Given the description of an element on the screen output the (x, y) to click on. 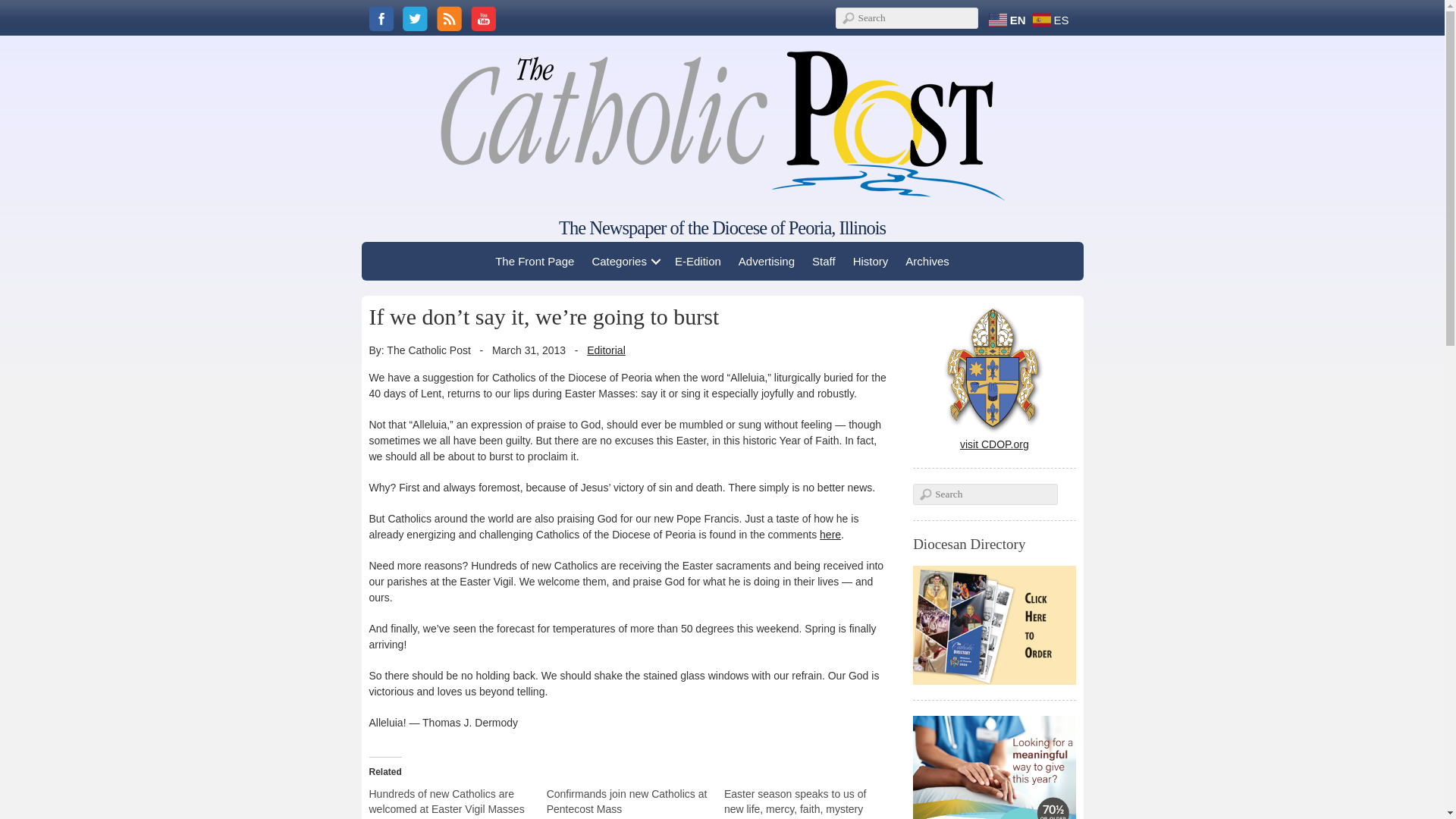
History (870, 261)
E-Edition (697, 261)
here (830, 534)
Advertising (766, 261)
Confirmands join new Catholics at Pentecost Mass (627, 800)
The Newspaper of the Diocese of Peoria, Illinois (722, 227)
Confirmands join new Catholics at Pentecost Mass (635, 802)
Confirmands join new Catholics at Pentecost Mass (627, 800)
Archives (927, 261)
visit CDOP.org (994, 438)
Spanish (1052, 19)
